Given the description of an element on the screen output the (x, y) to click on. 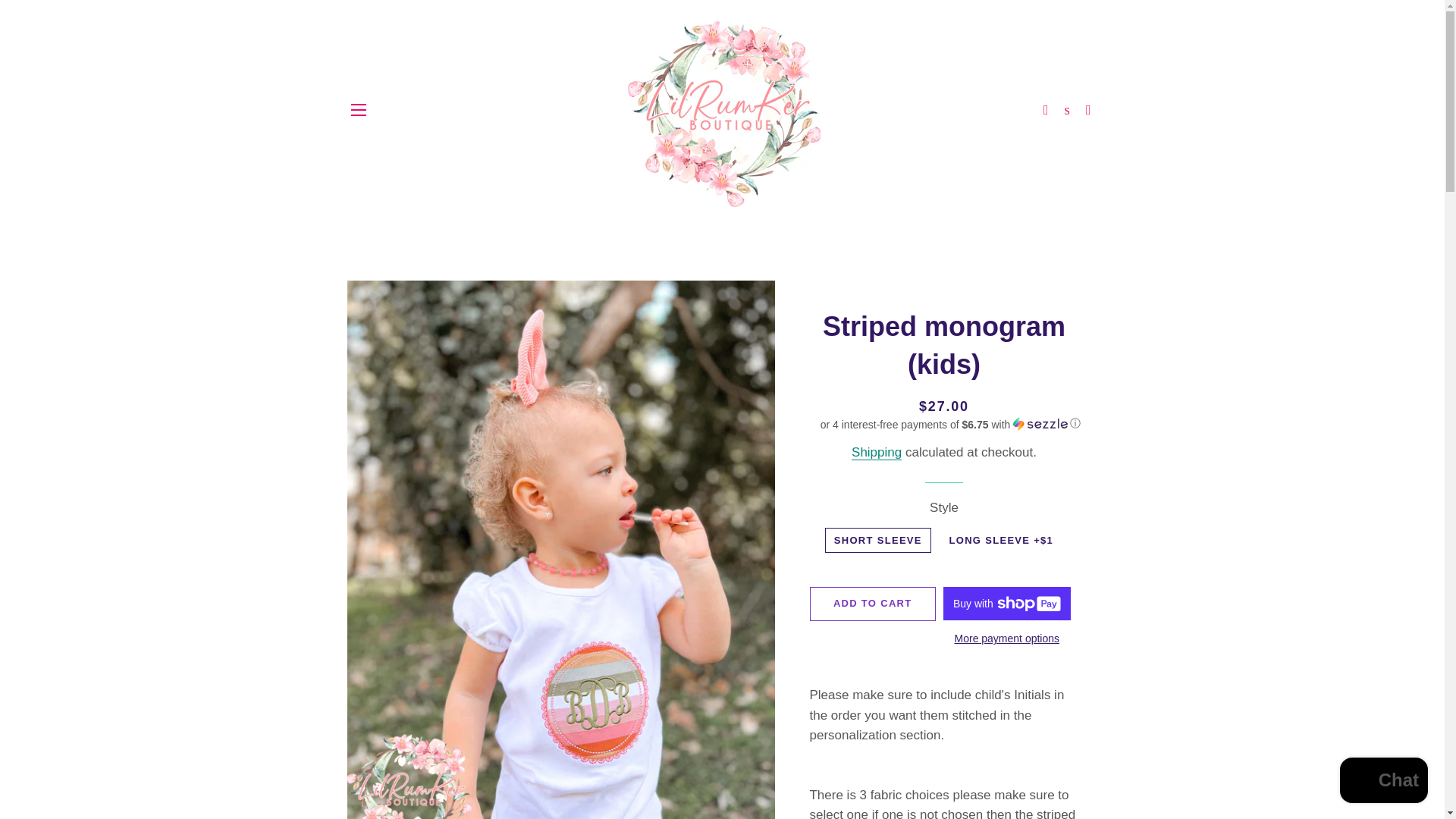
Shopify online store chat (1383, 781)
SITE NAVIGATION (358, 109)
